Given the description of an element on the screen output the (x, y) to click on. 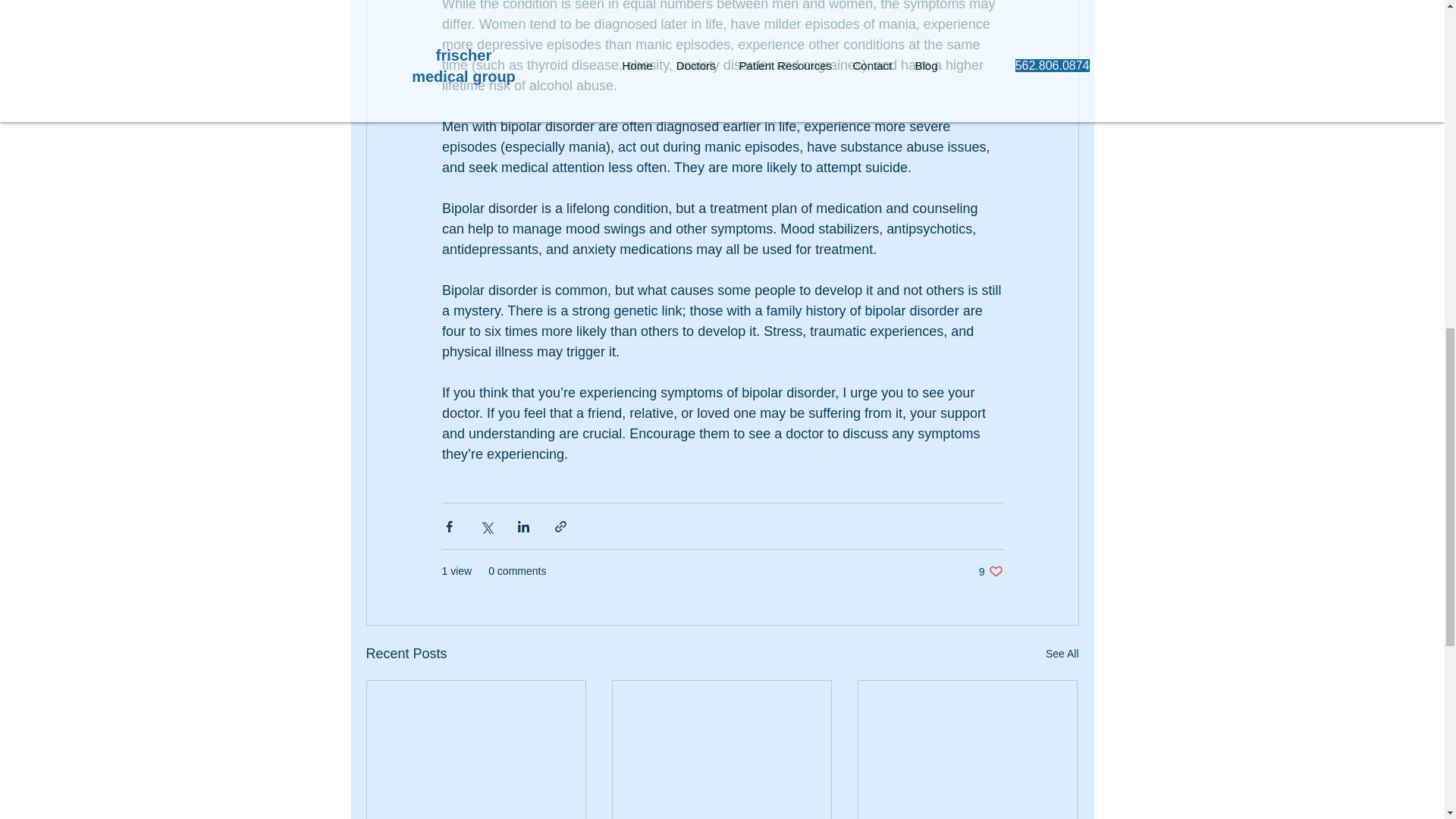
See All (1061, 653)
